Given the description of an element on the screen output the (x, y) to click on. 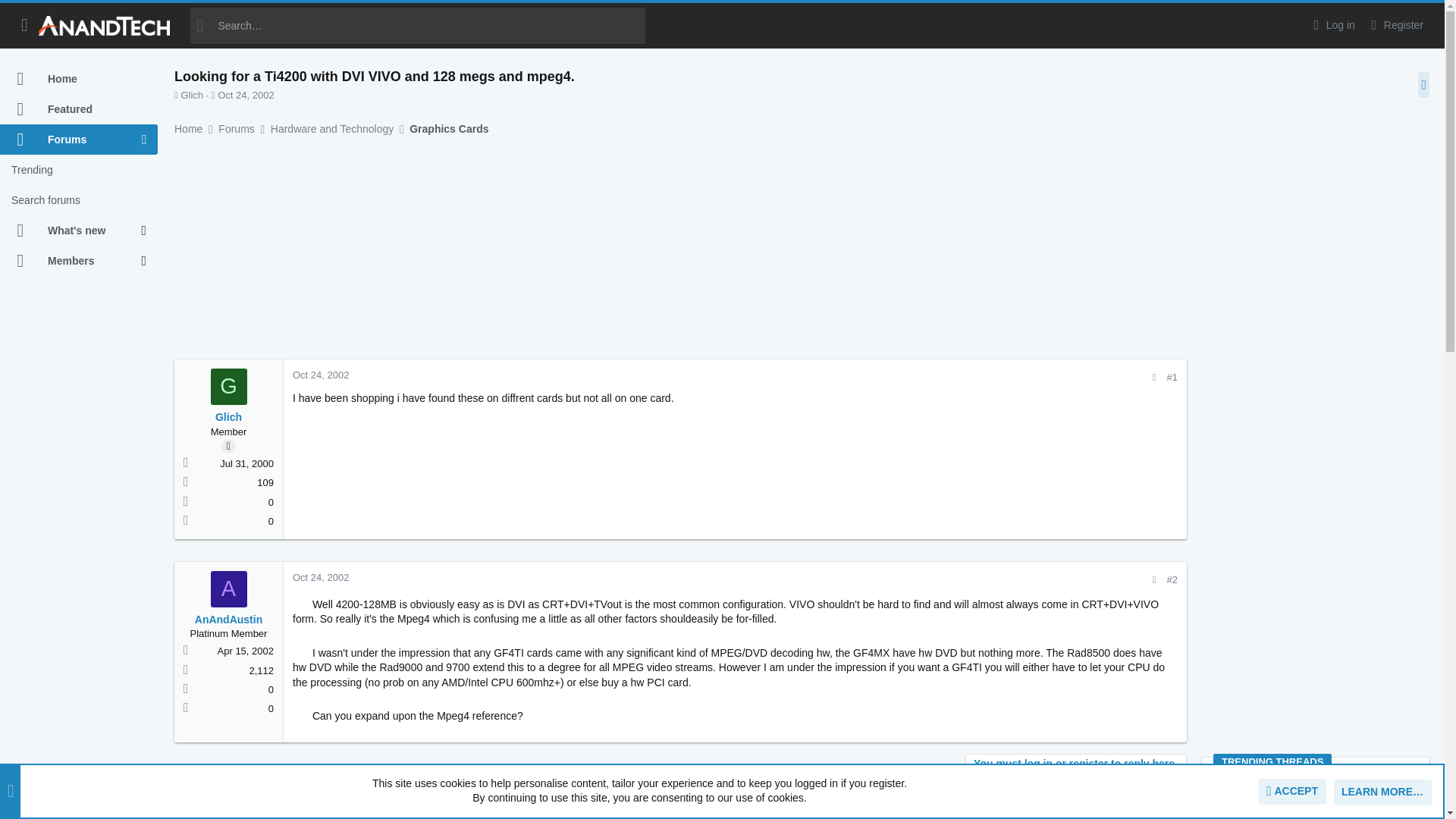
Log in (1332, 24)
Register (1395, 24)
Trending (78, 169)
Featured (78, 109)
What's new (70, 230)
Oct 24, 2002 at 2:01 AM (244, 94)
Forums (70, 139)
Home (78, 78)
Search forums (78, 200)
Original poster (228, 445)
